Given the description of an element on the screen output the (x, y) to click on. 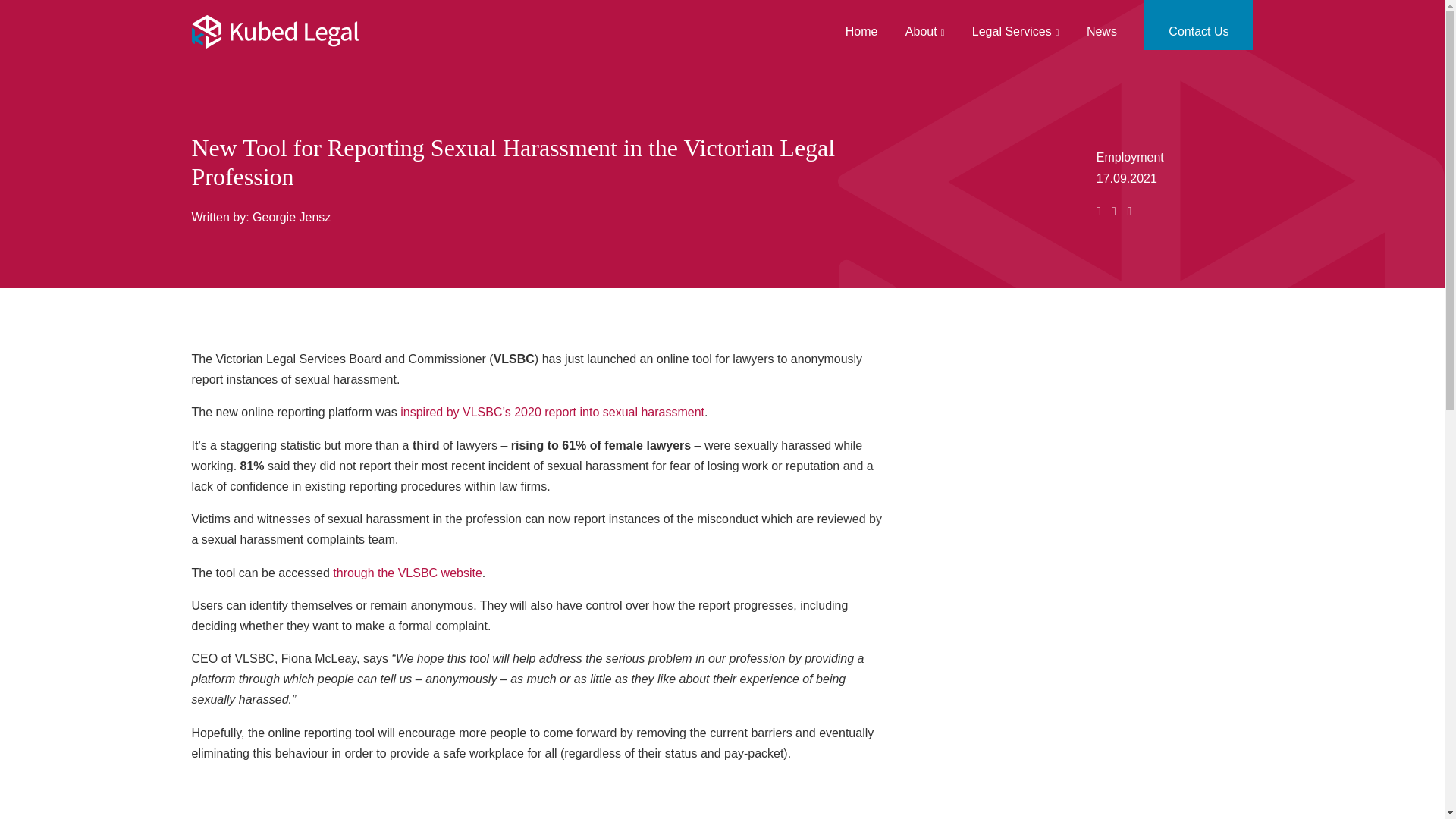
News (1107, 31)
Home (860, 31)
through the VLSBC website (407, 571)
Legal Services (1015, 31)
Contact Us (1198, 31)
About (924, 31)
Employment (1129, 156)
